Given the description of an element on the screen output the (x, y) to click on. 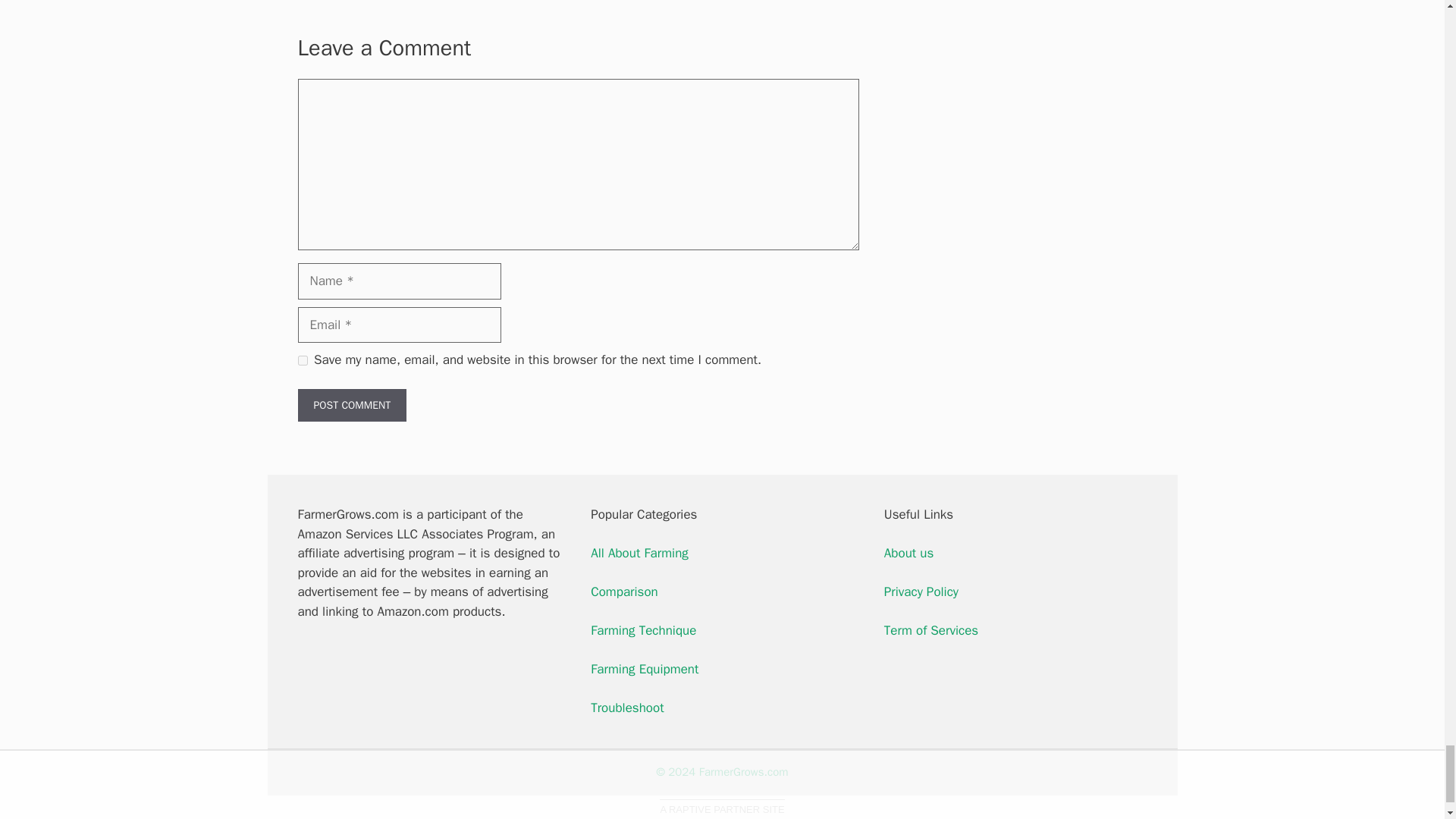
All About Farming (639, 553)
yes (302, 360)
Comparison (624, 591)
Post Comment (351, 405)
Post Comment (351, 405)
